Given the description of an element on the screen output the (x, y) to click on. 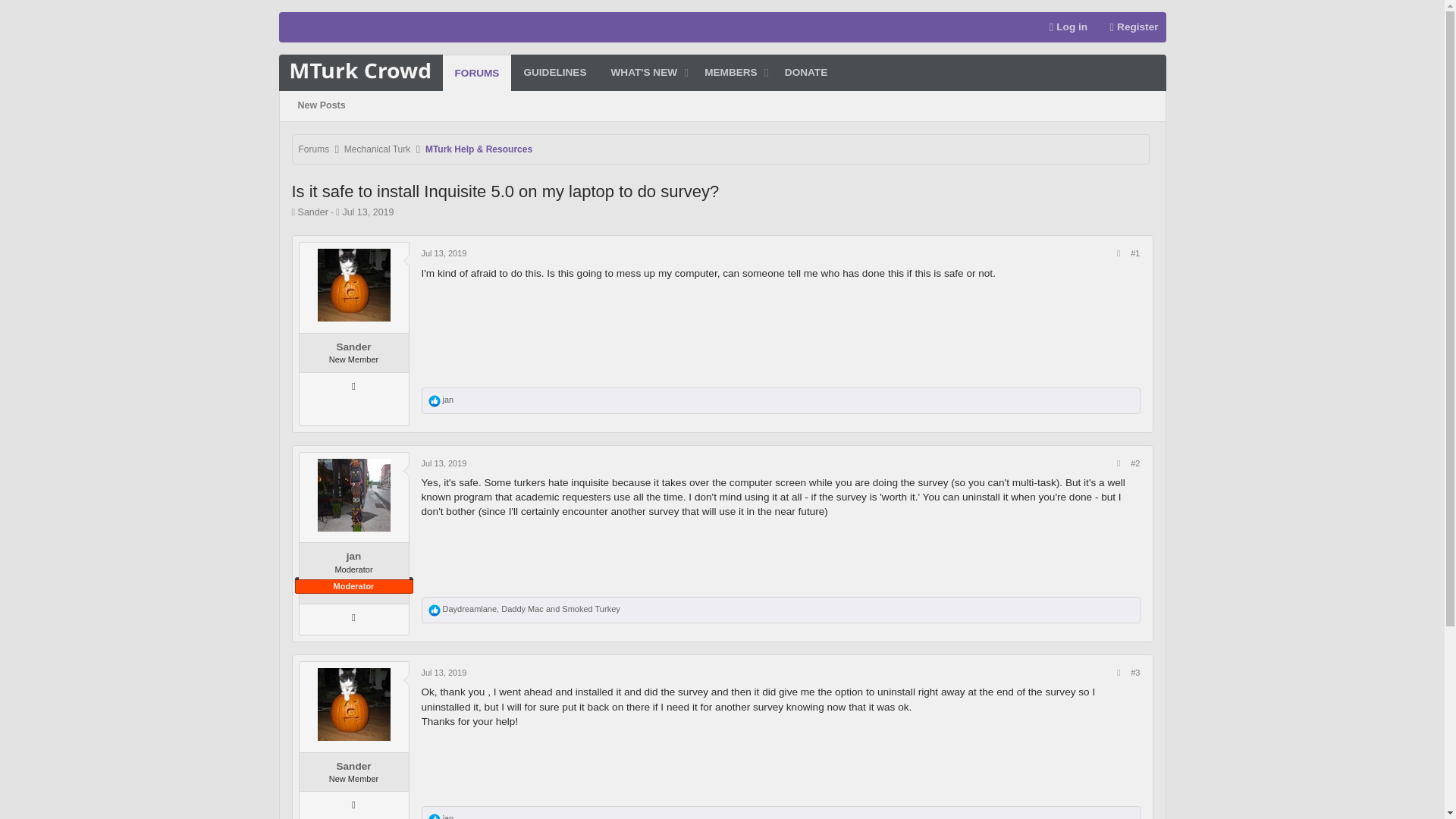
Jul 13, 2019 (444, 462)
Jul 13, 2019 (367, 212)
Log in (1063, 27)
Jul 13, 2019 at 11:01 AM (444, 252)
Register (1130, 27)
Jul 13, 2019 at 11:19 AM (444, 672)
DONATE (806, 72)
Like (433, 400)
Jul 13, 2019 at 11:01 AM (367, 212)
Forums (314, 149)
Sander (313, 212)
Mechanical Turk (376, 149)
Like (641, 72)
